Given the description of an element on the screen output the (x, y) to click on. 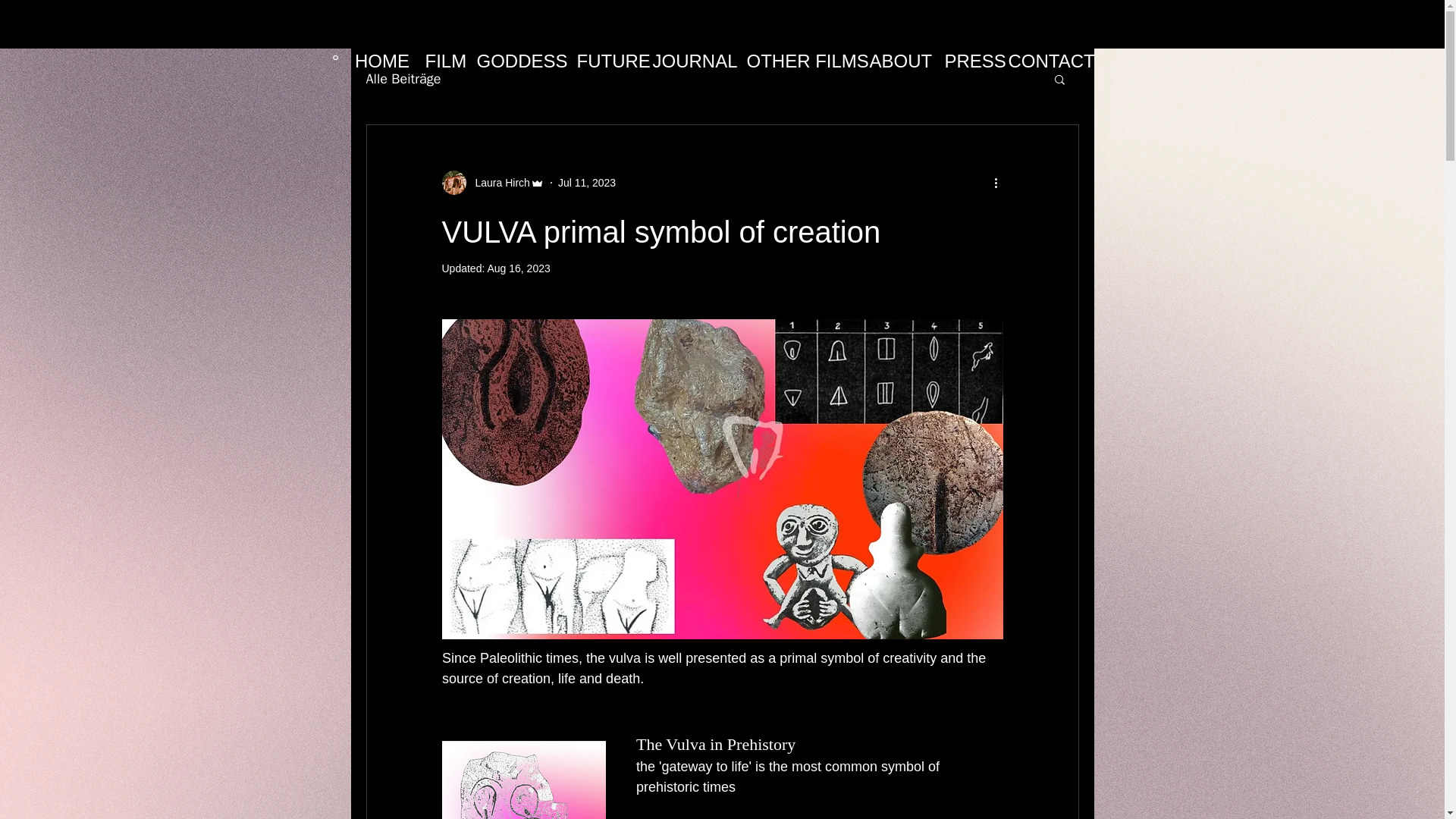
Aug 16, 2023 (518, 268)
ABOUT (898, 61)
PRESS (969, 61)
HOME (382, 61)
Jul 11, 2023 (586, 182)
 Laura Hirch (497, 182)
GODDESS (518, 61)
Laura Hirch (492, 182)
FILM (442, 61)
JOURNAL (691, 61)
